Given the description of an element on the screen output the (x, y) to click on. 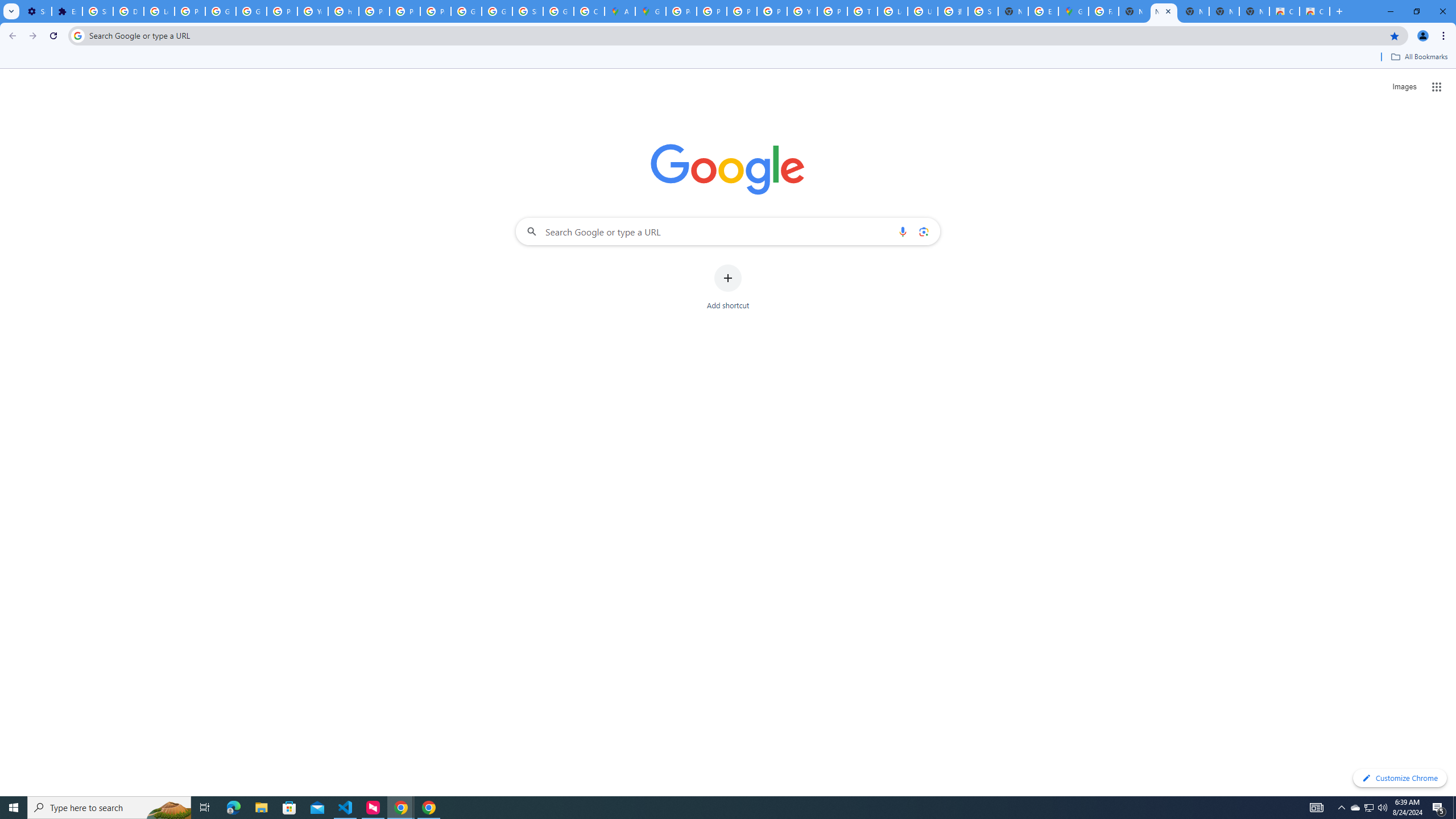
Sign in - Google Accounts (982, 11)
Google Maps (1072, 11)
Customize Chrome (1399, 778)
Search Google or type a URL (727, 230)
Explore new street-level details - Google Maps Help (1042, 11)
Privacy Help Center - Policies Help (711, 11)
Classic Blue - Chrome Web Store (1283, 11)
YouTube (312, 11)
Sign in - Google Accounts (97, 11)
